Given the description of an element on the screen output the (x, y) to click on. 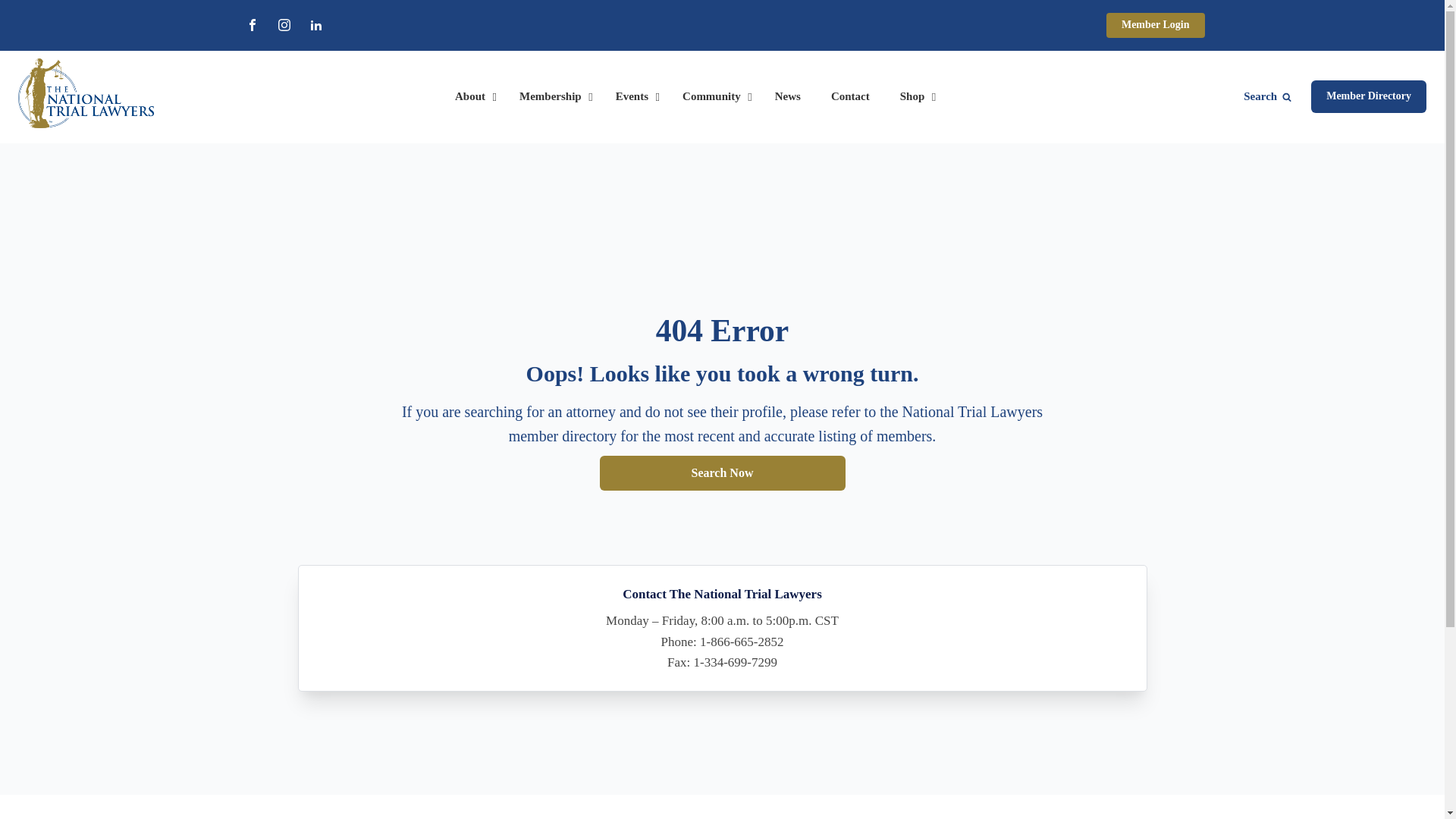
Membership (551, 96)
About (471, 96)
Member Login (1155, 25)
